Given the description of an element on the screen output the (x, y) to click on. 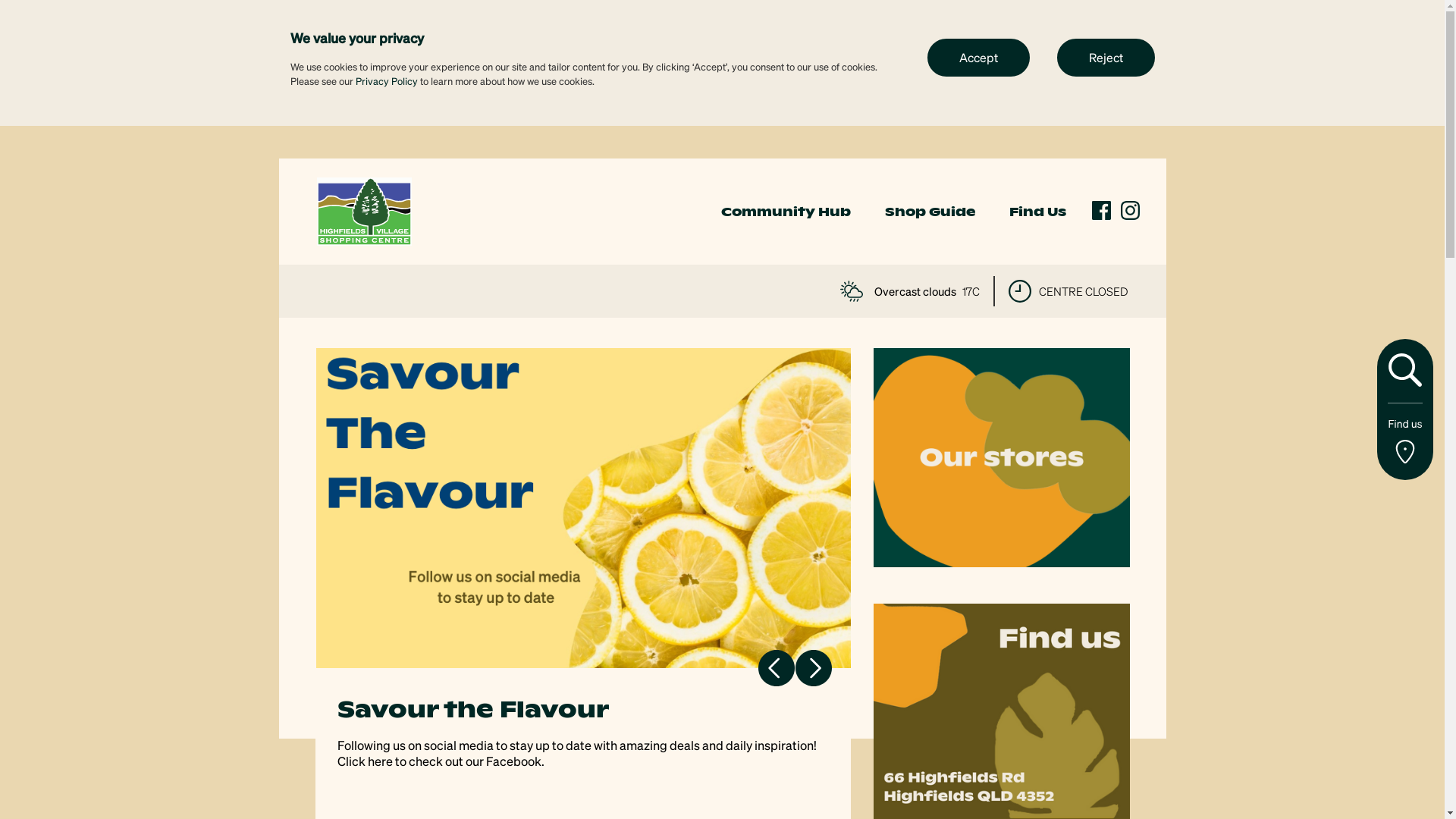
facebook Element type: hover (1101, 209)
Accept Element type: text (977, 56)
Community Hub Element type: text (785, 211)
Privacy Policy Element type: text (385, 80)
time Element type: hover (1019, 290)
Previous Element type: text (776, 667)
Shop Guide Element type: text (929, 211)
Next Element type: text (812, 667)
CENTRE CLOSED Element type: text (1068, 290)
instagram Element type: hover (1129, 209)
Reject Element type: text (1105, 56)
Find Us Element type: text (1036, 211)
